Given the description of an element on the screen output the (x, y) to click on. 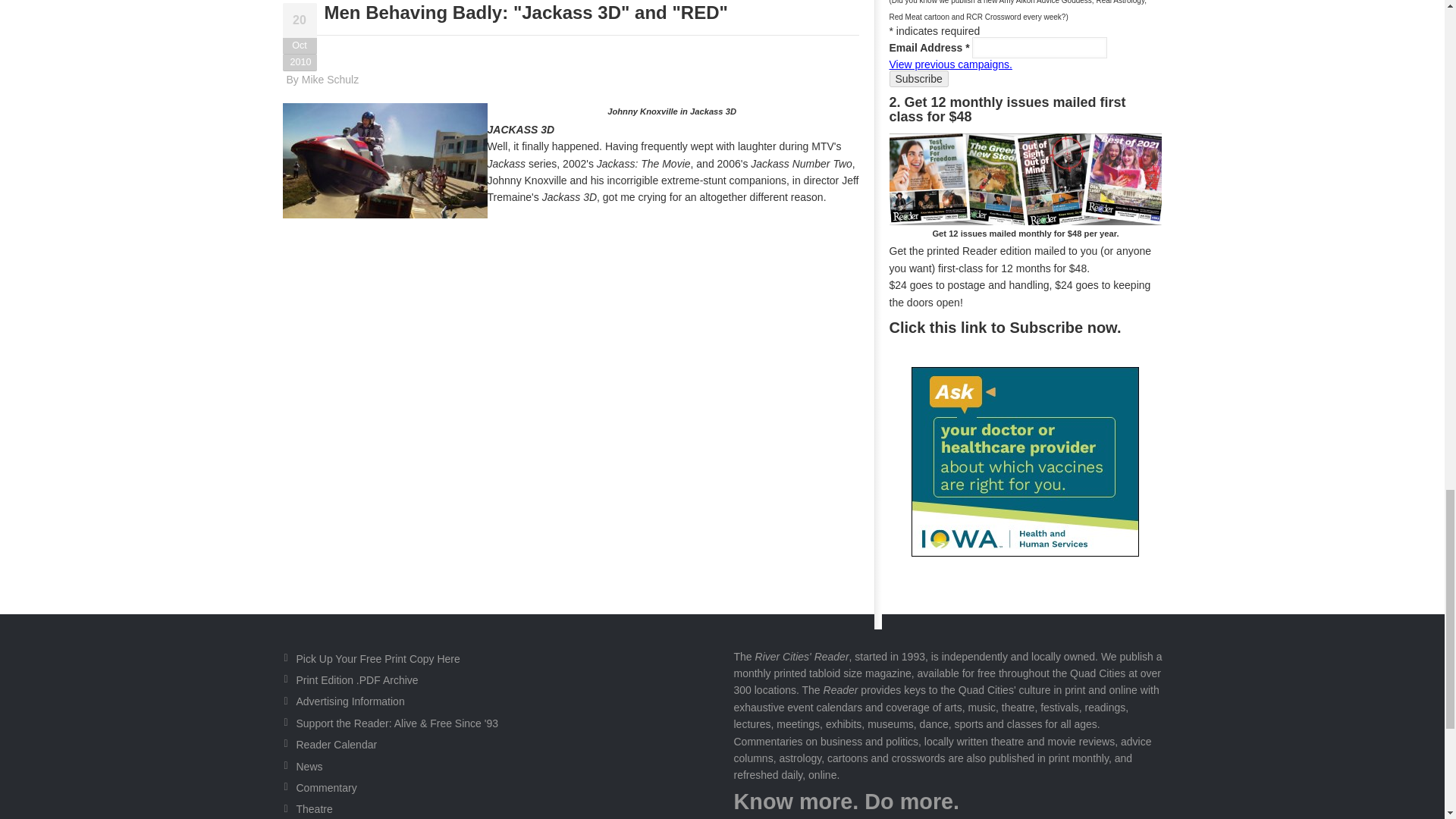
Johnny Knoxville in Jackass 3D (384, 160)
Subscribe (917, 78)
